Given the description of an element on the screen output the (x, y) to click on. 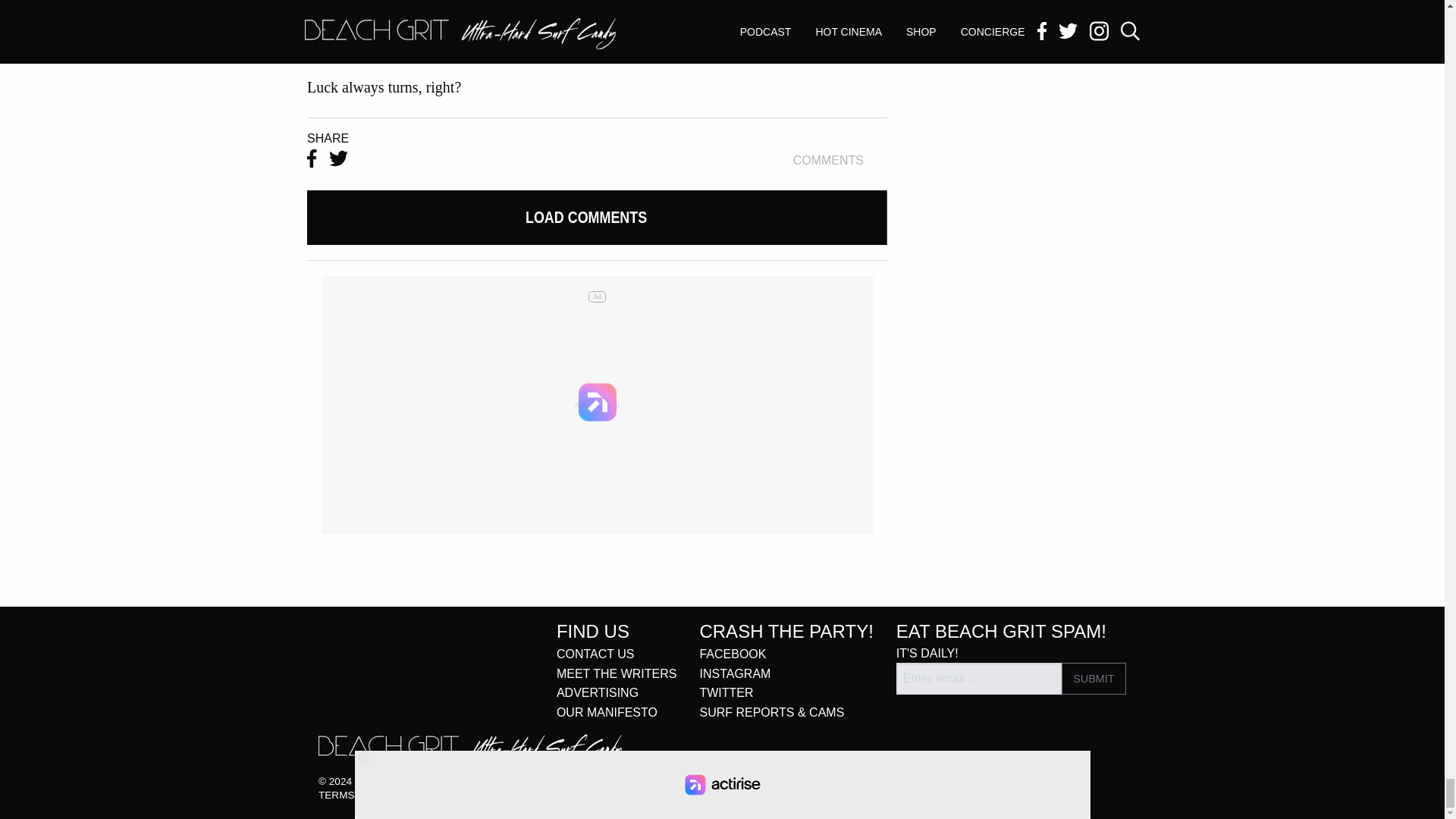
Submit (1093, 678)
